Given the description of an element on the screen output the (x, y) to click on. 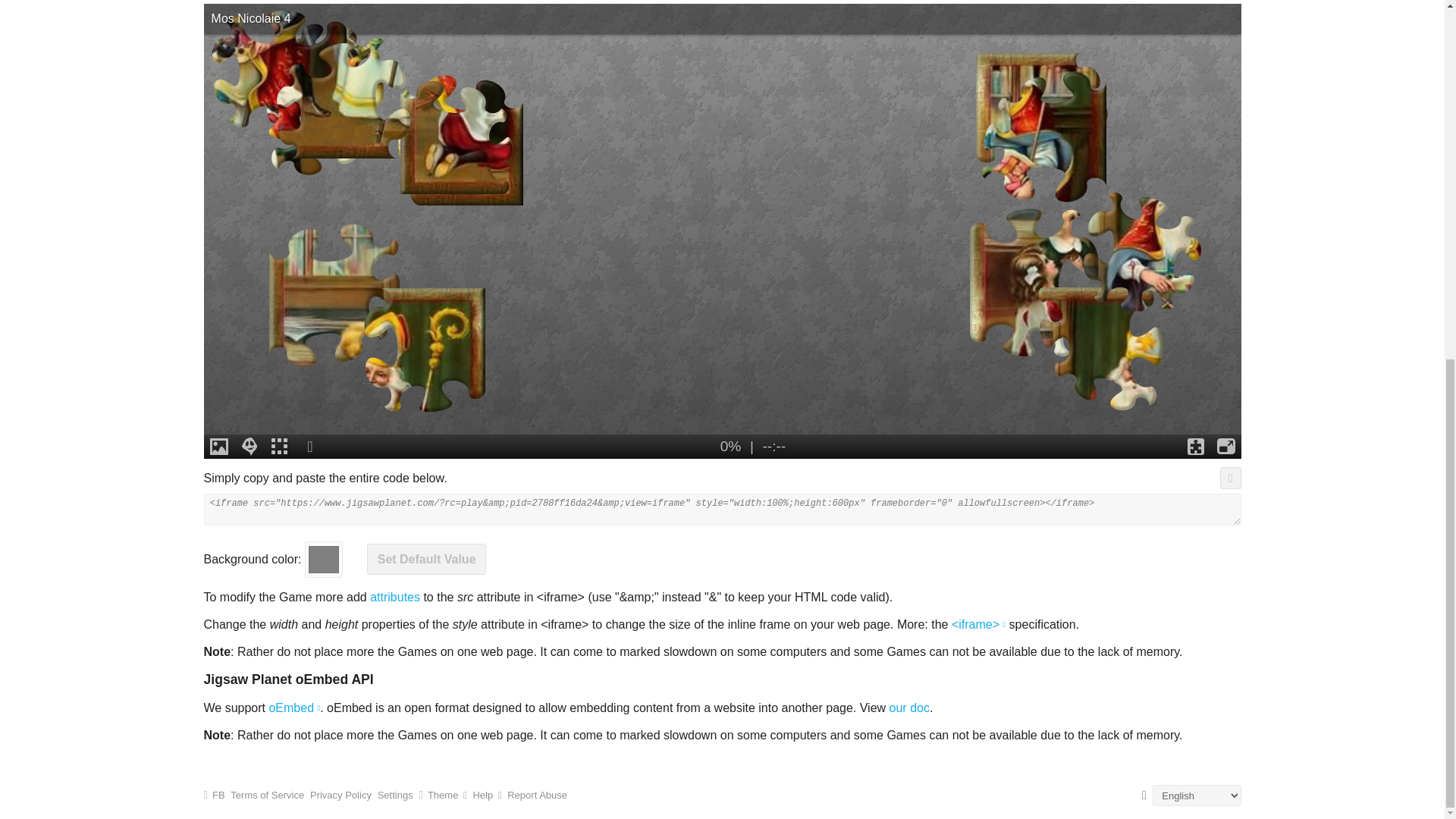
attributes (394, 596)
Report Abuse (536, 795)
Copy to clipboard (1230, 477)
FB (213, 795)
Set Default Value (426, 558)
oEmbed  (293, 707)
Terms of Service (267, 795)
Settings (395, 795)
our doc (909, 707)
Privacy Policy (340, 795)
